Given the description of an element on the screen output the (x, y) to click on. 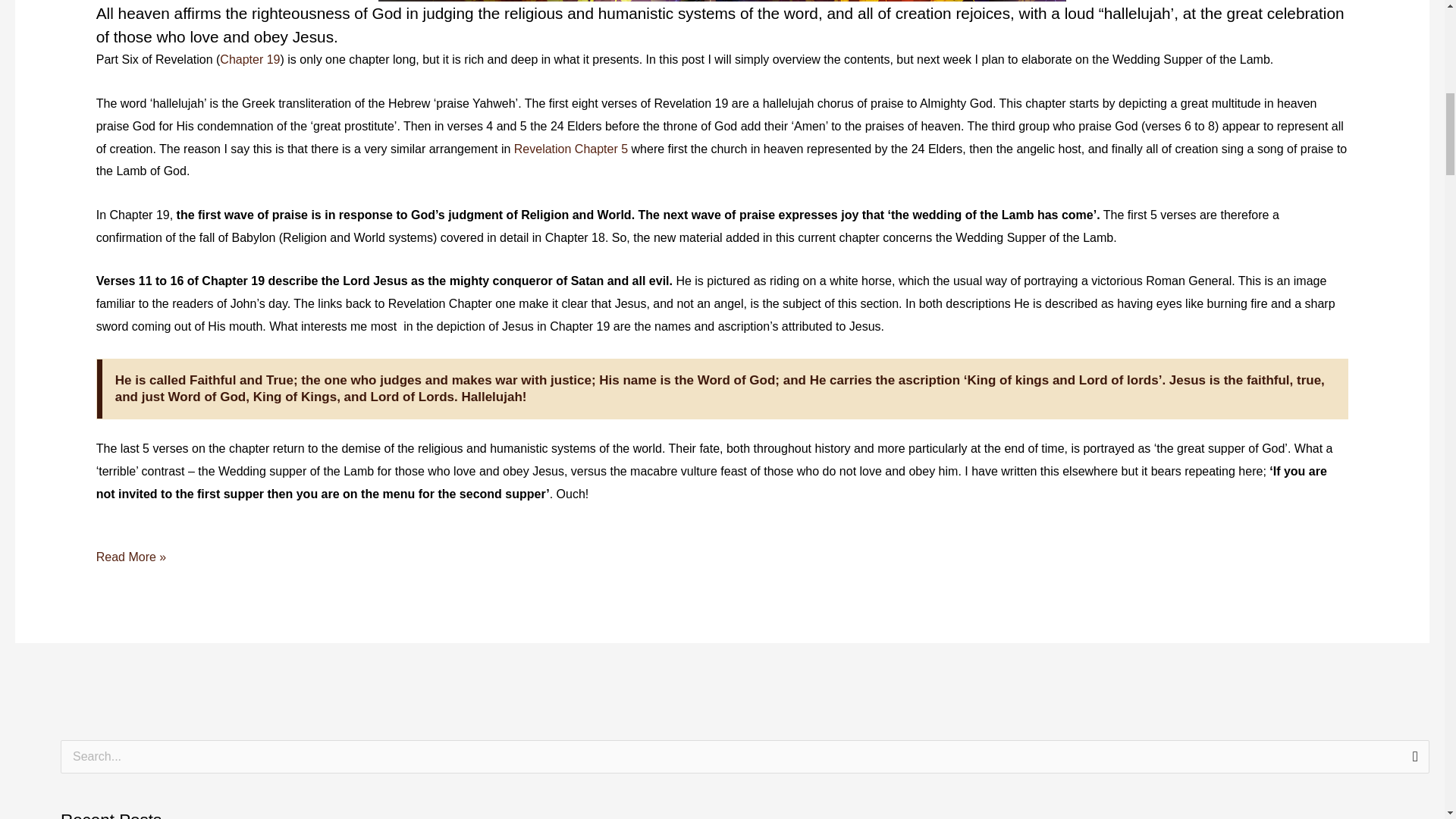
Revelation Chapter 5 (570, 148)
Chapter 19 (249, 59)
